Given the description of an element on the screen output the (x, y) to click on. 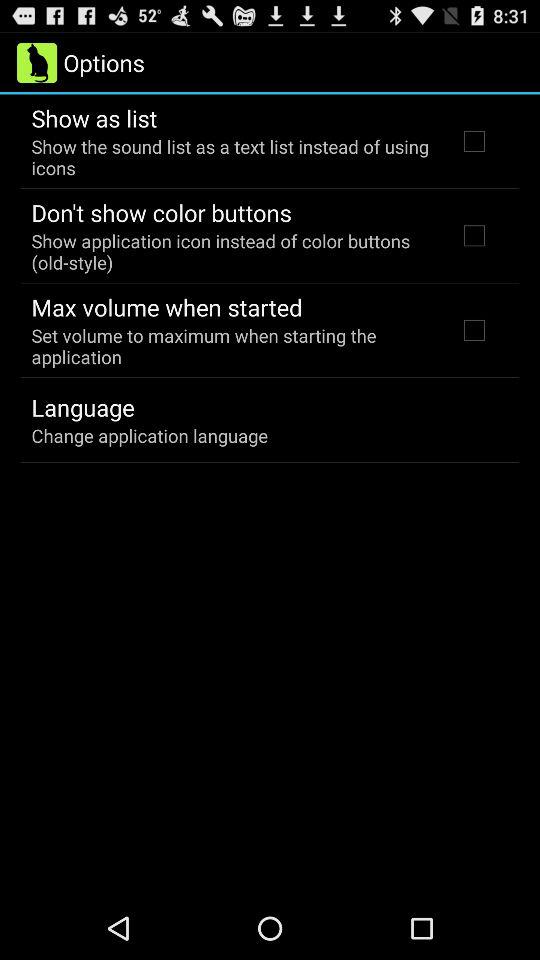
open the icon above the max volume when app (231, 251)
